Given the description of an element on the screen output the (x, y) to click on. 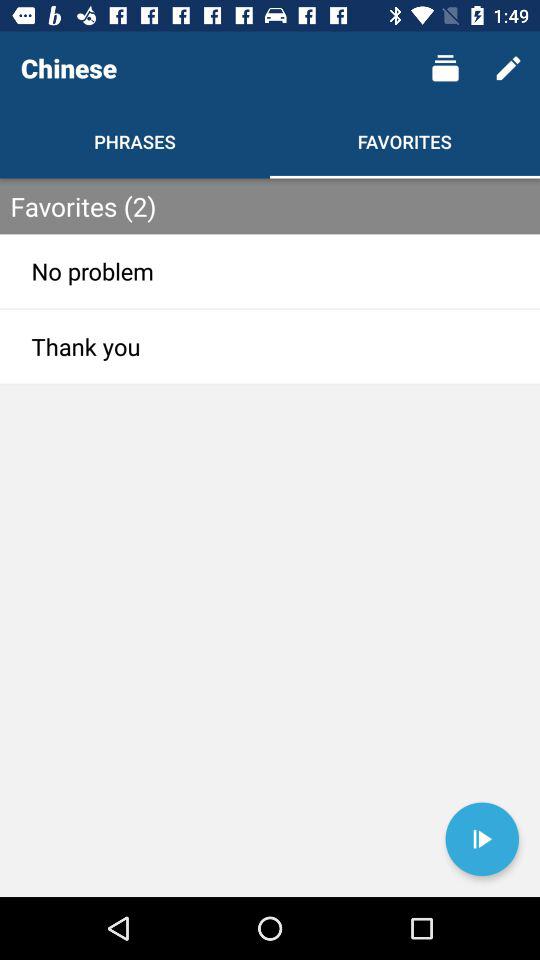
play buttion (482, 839)
